Given the description of an element on the screen output the (x, y) to click on. 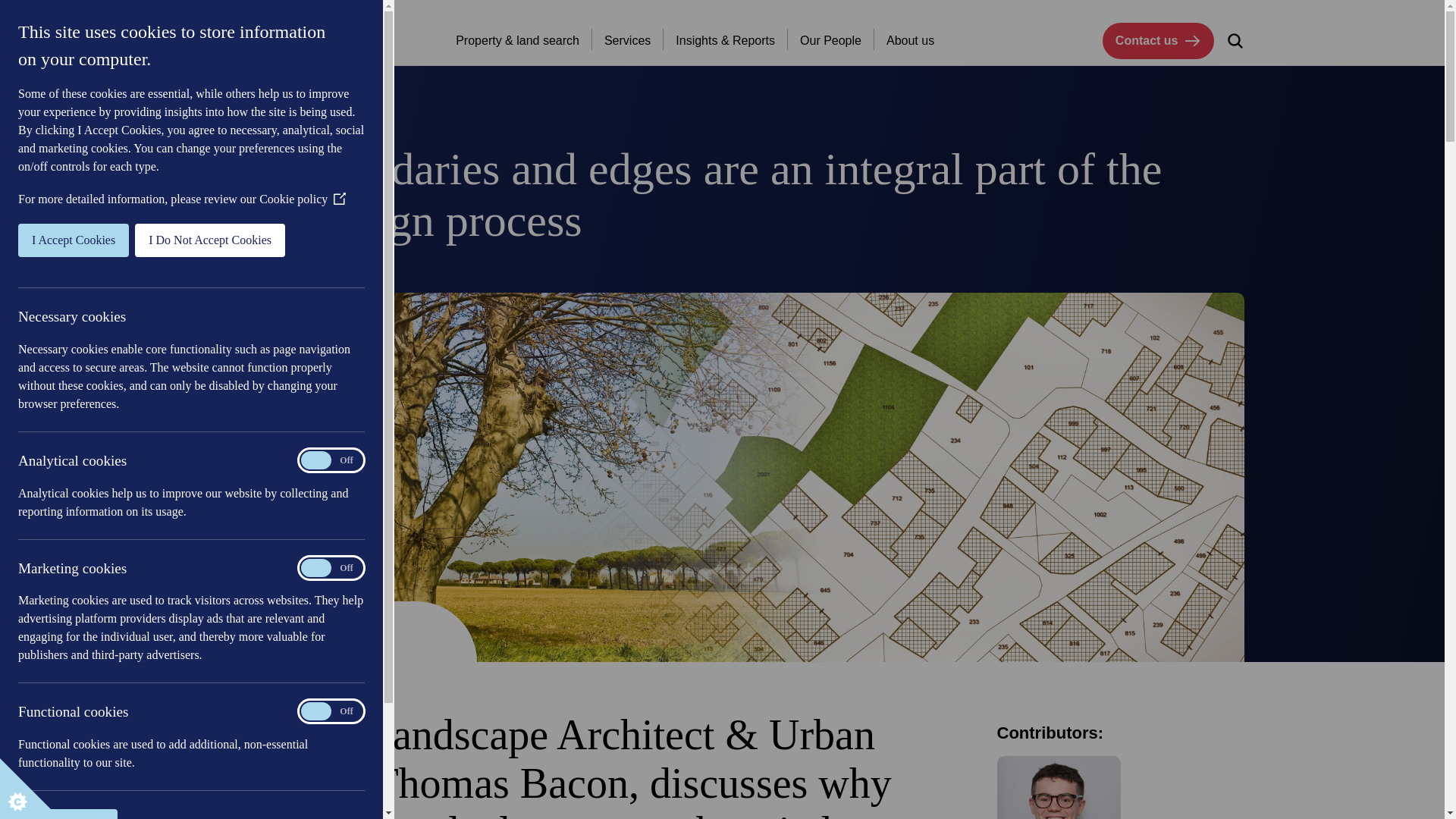
I Do Not Accept Cookies (26, 240)
